Given the description of an element on the screen output the (x, y) to click on. 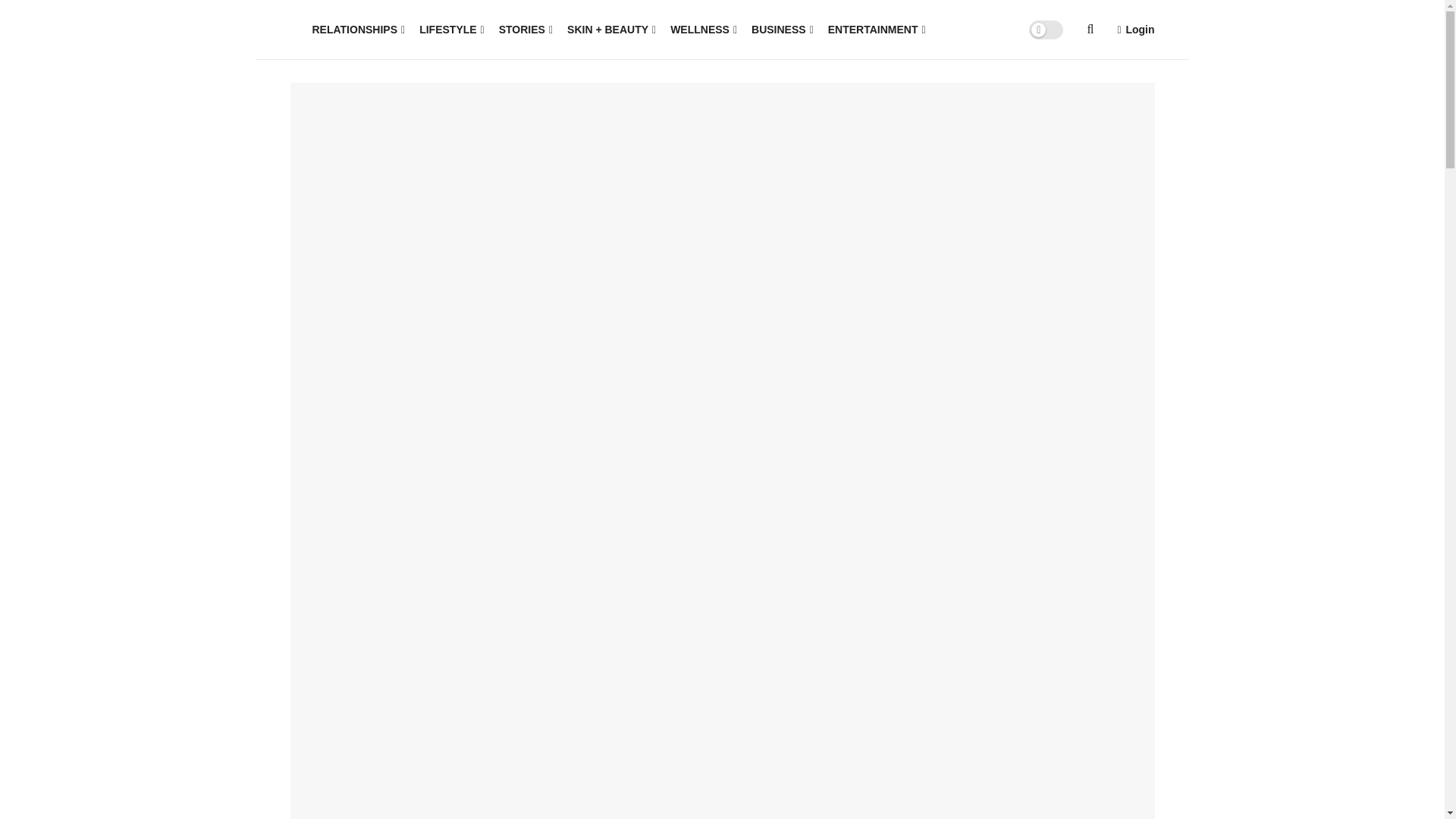
ENTERTAINMENT (875, 29)
RELATIONSHIPS (358, 29)
STORIES (524, 29)
BUSINESS (780, 29)
LIFESTYLE (450, 29)
WELLNESS (702, 29)
